Given the description of an element on the screen output the (x, y) to click on. 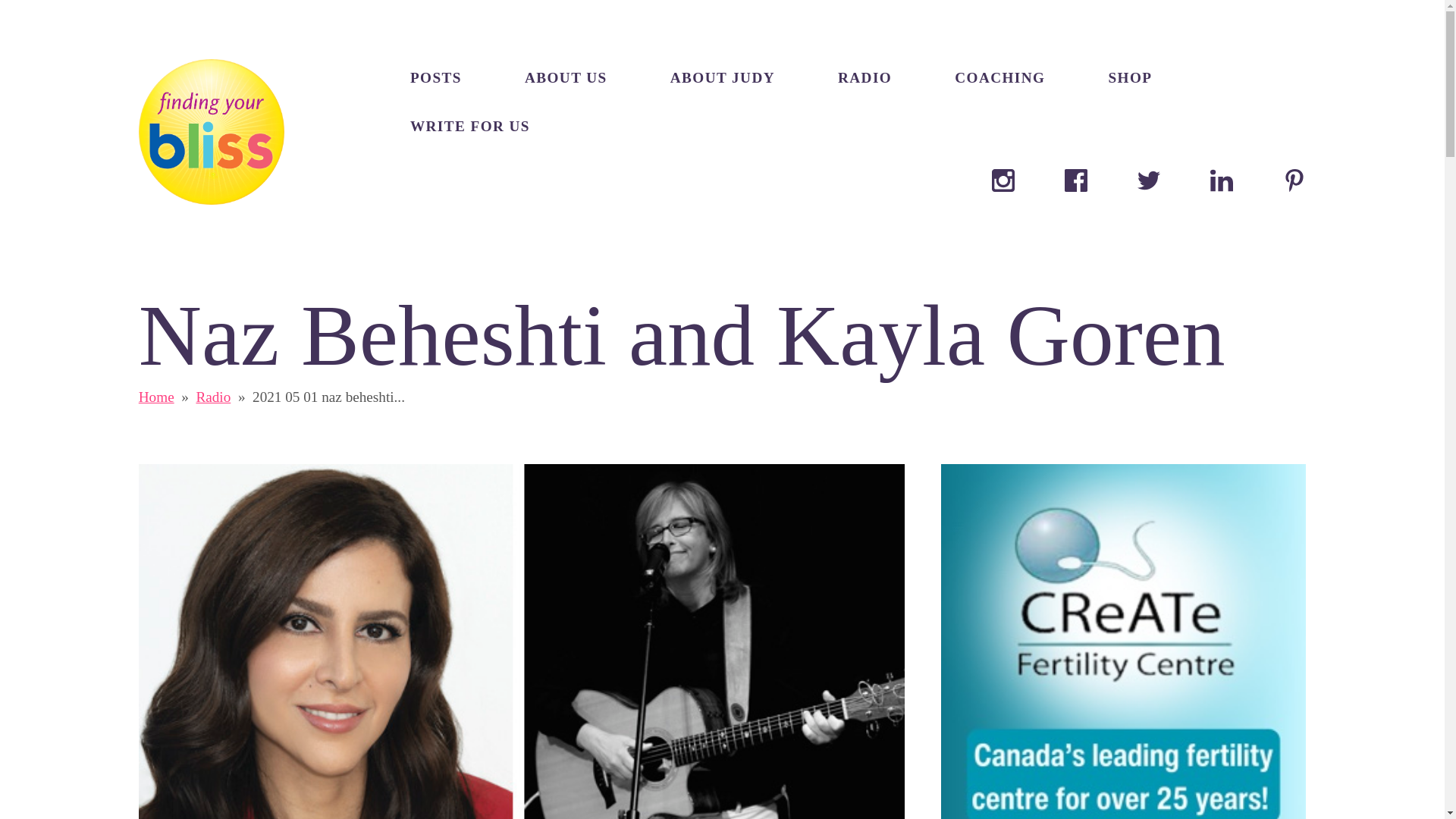
Home (156, 396)
WRITE FOR US (469, 126)
COACHING (1000, 77)
Finding Your Bliss (210, 131)
SHOP (1129, 77)
ABOUT US (565, 77)
Radio (212, 396)
ABOUT JUDY (721, 77)
RADIO (864, 77)
POSTS (435, 77)
